Given the description of an element on the screen output the (x, y) to click on. 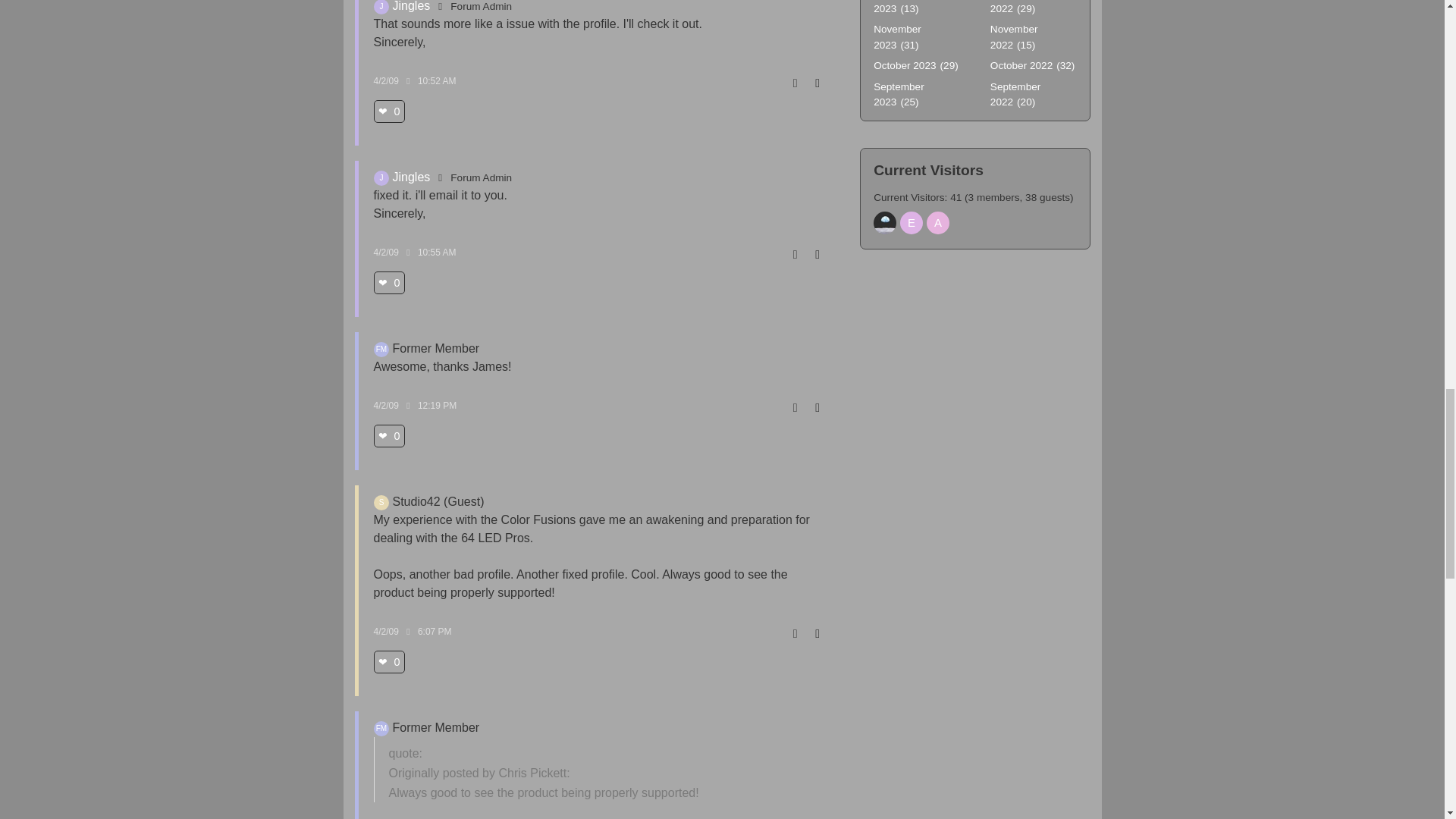
J (380, 7)
FM (380, 349)
Jingles (380, 177)
J (380, 177)
S (380, 502)
FM (380, 728)
Jingles (380, 7)
